Given the description of an element on the screen output the (x, y) to click on. 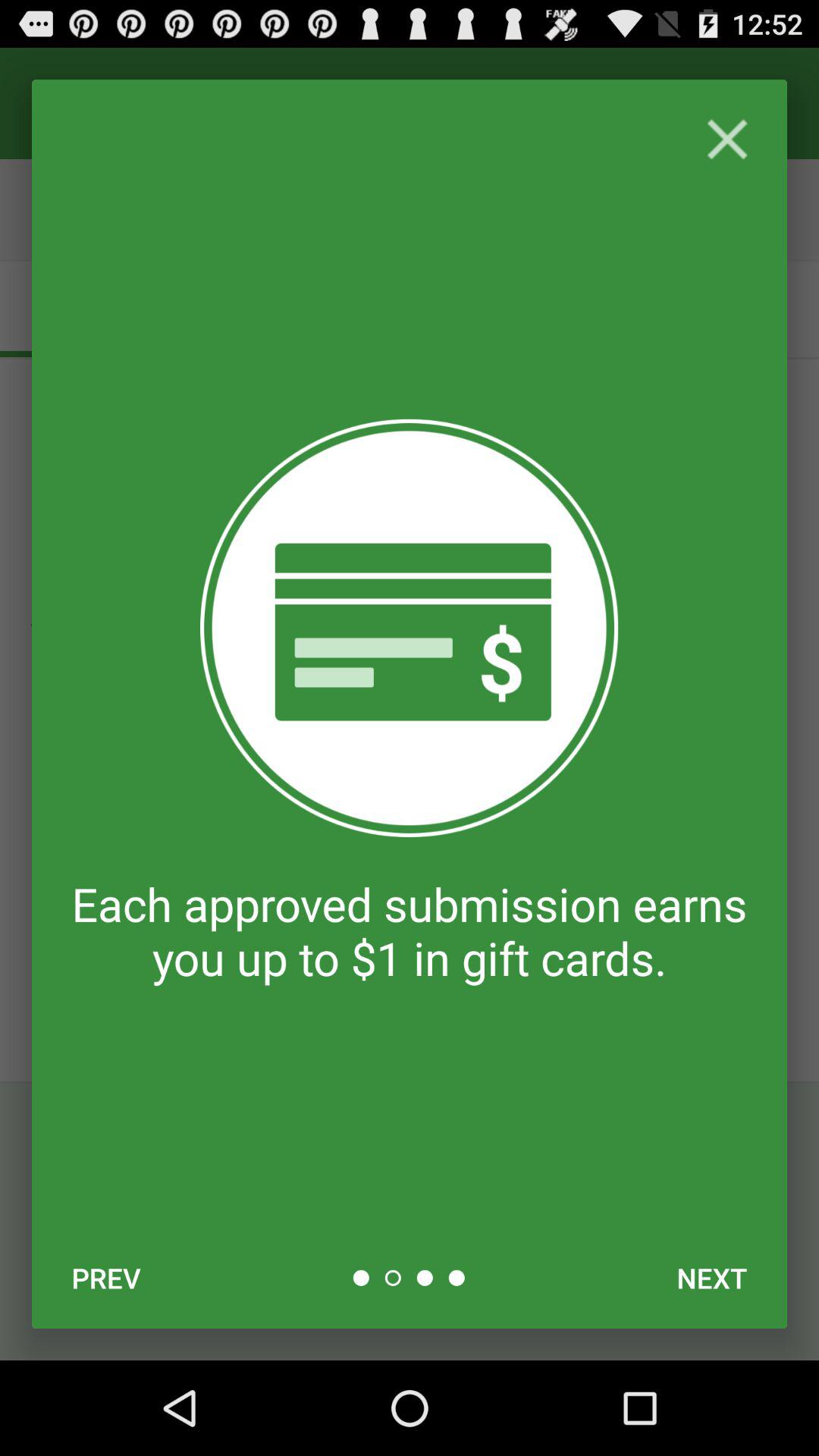
click the prev icon (105, 1277)
